Given the description of an element on the screen output the (x, y) to click on. 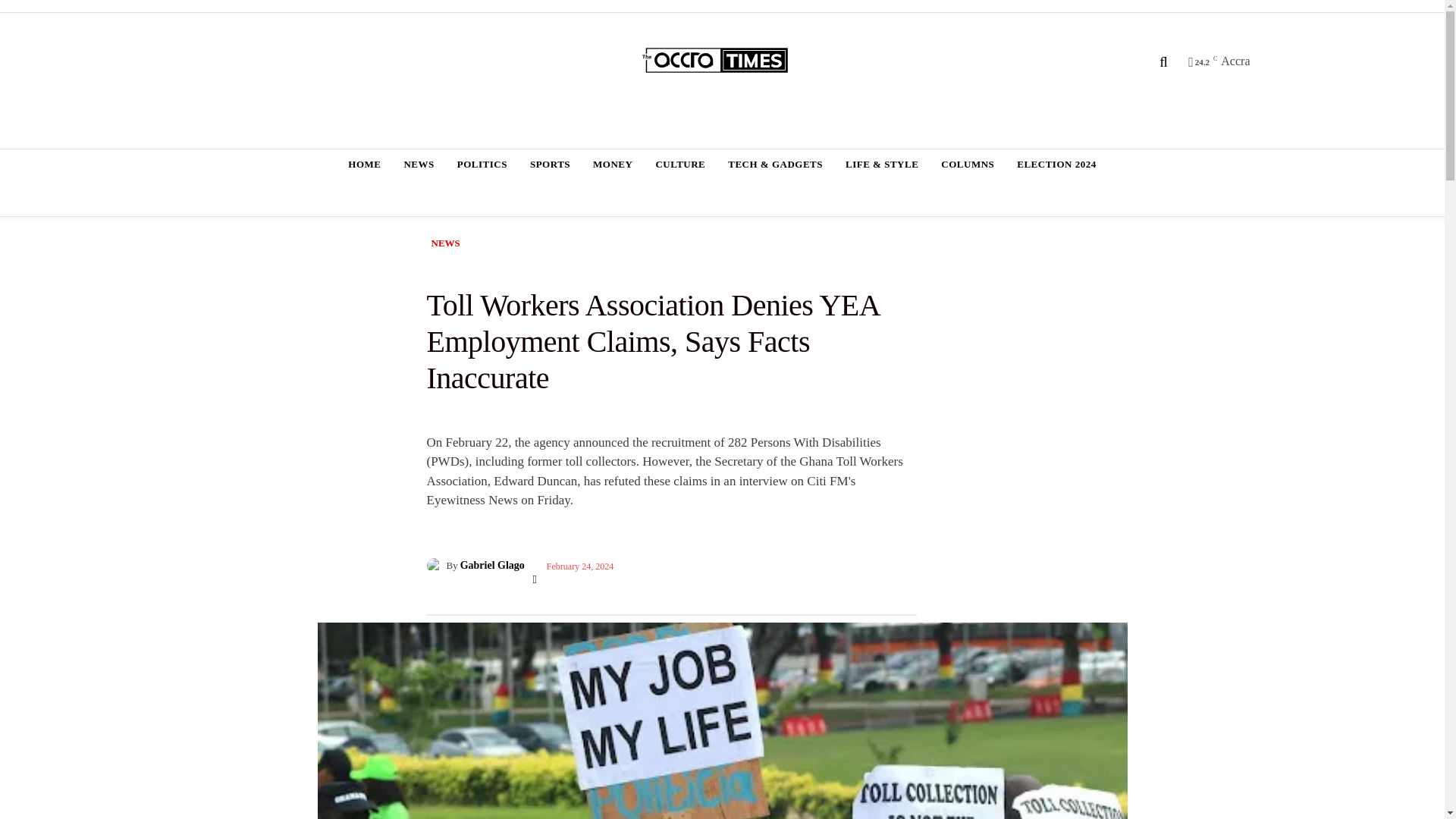
Gabriel Glago (435, 565)
HOME (364, 164)
NEWS (418, 164)
Breaking news from Ghana and around the world (724, 60)
